Given the description of an element on the screen output the (x, y) to click on. 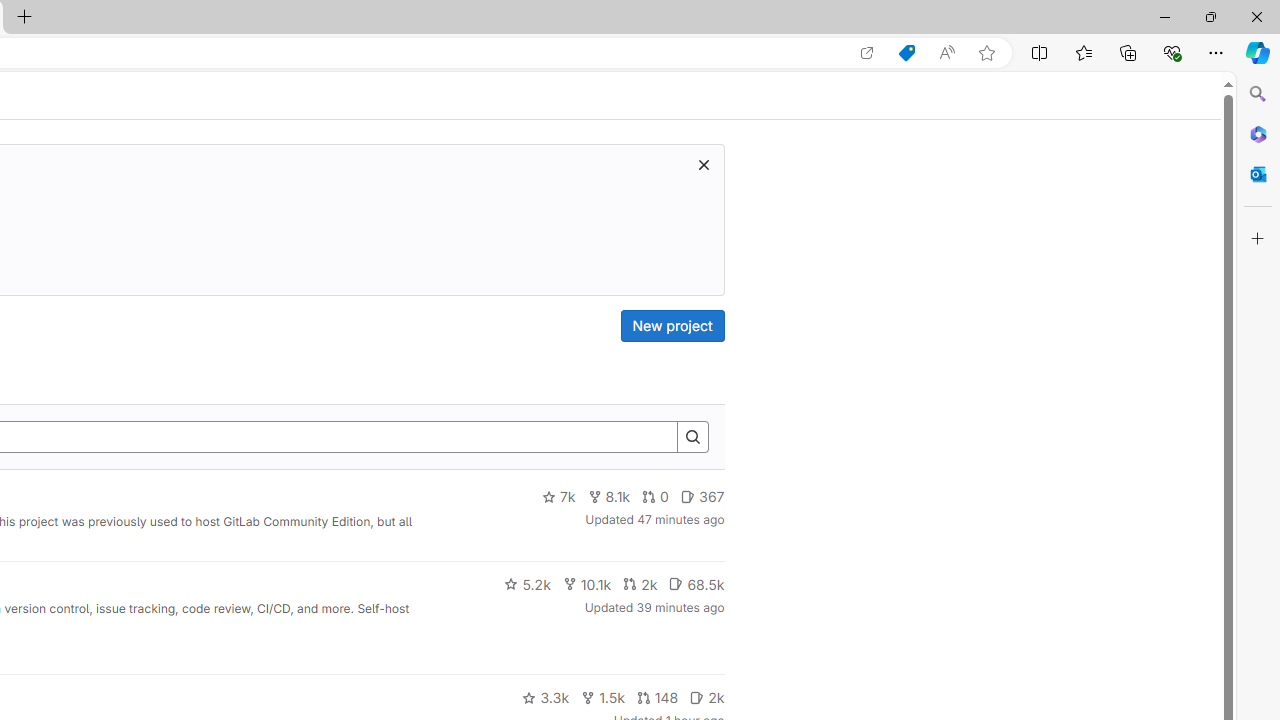
0 (655, 497)
